Given the description of an element on the screen output the (x, y) to click on. 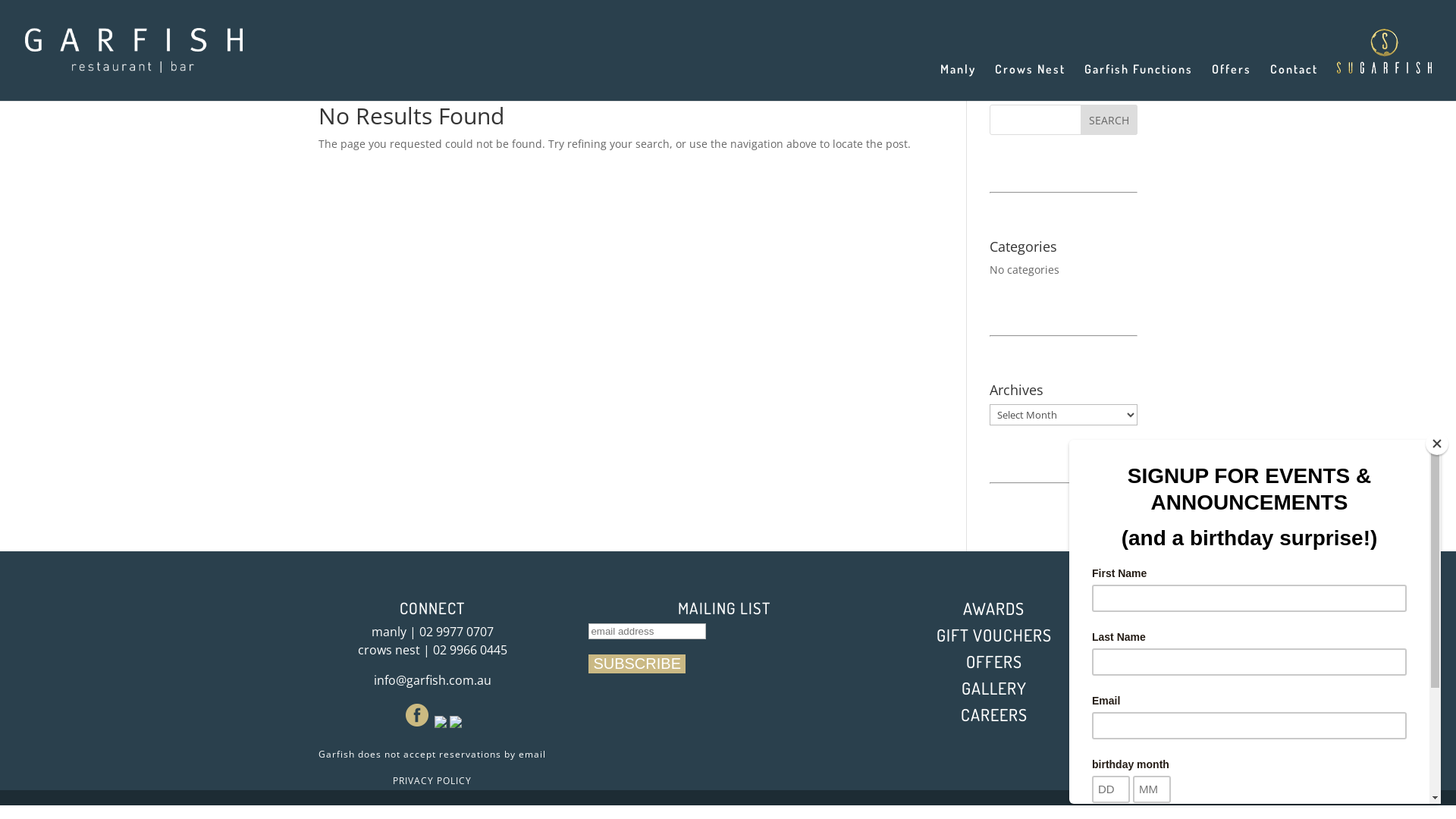
Manly Element type: text (957, 81)
GALLERY Element type: text (993, 687)
OFFERS Element type: text (994, 660)
info@garfish.com.au Element type: text (431, 679)
Offers Element type: text (1231, 81)
PRIVACY POLICY Element type: text (431, 780)
02 9966 0445 Element type: text (469, 649)
Crows Nest Element type: text (1029, 81)
CAREERS Element type: text (993, 713)
02 9977 0707 Element type: text (455, 631)
AWARDS Element type: text (993, 607)
Search Element type: text (1108, 119)
Garfish Functions Element type: text (1138, 81)
Contact Element type: text (1293, 81)
GIFT VOUCHERS Element type: text (993, 634)
Subscribe Element type: text (636, 663)
